Given the description of an element on the screen output the (x, y) to click on. 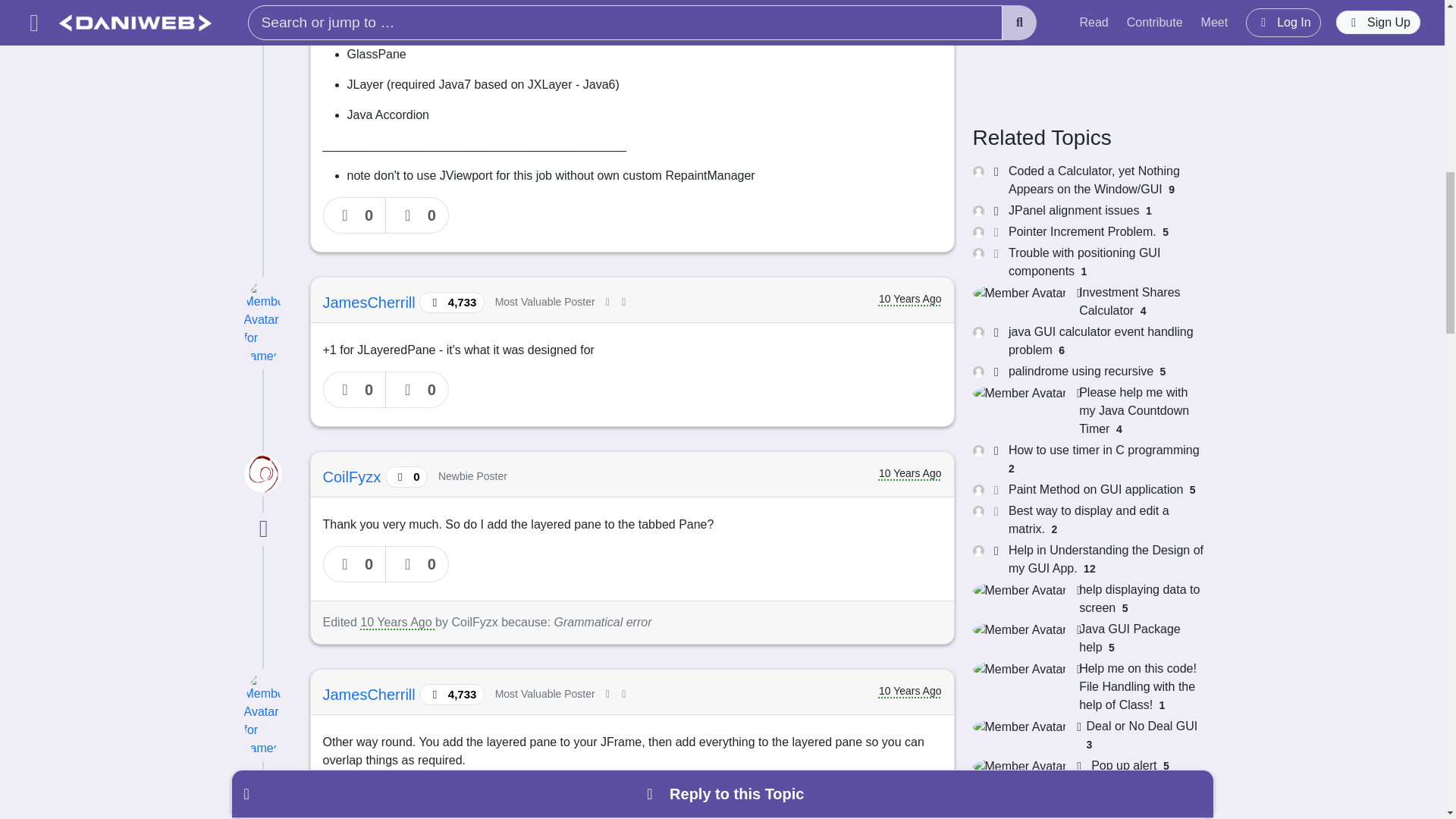
JamesCherrill (371, 302)
JamesCherrill (371, 694)
0 (355, 800)
0 (355, 564)
0 (355, 215)
0 (416, 215)
0 (416, 800)
CoilFyzx (354, 476)
0 (416, 389)
0 (355, 389)
